Given the description of an element on the screen output the (x, y) to click on. 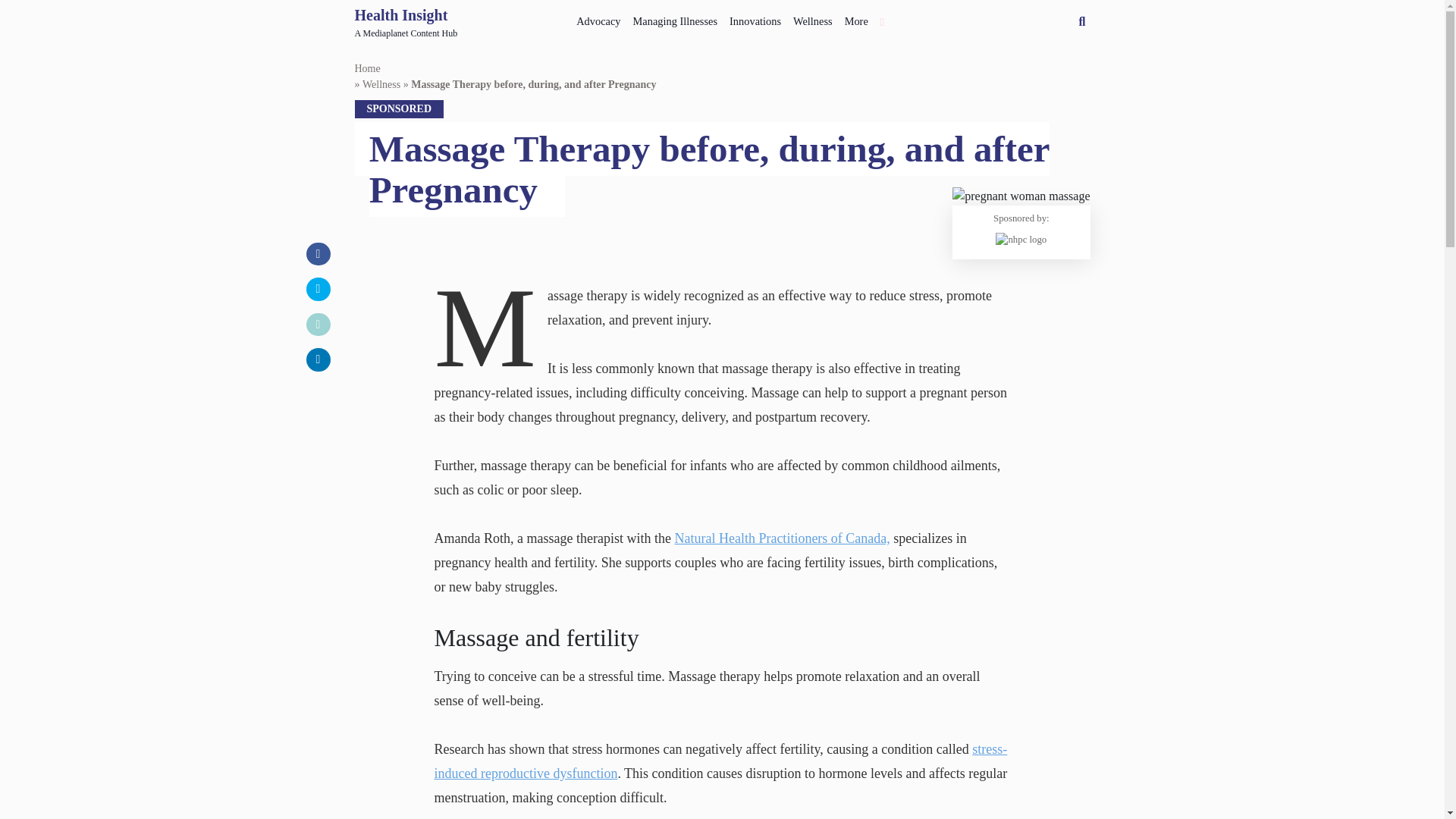
More (856, 18)
Advocacy (598, 18)
Innovations (406, 22)
Wellness (755, 18)
Managing Illnesses (812, 18)
